Given the description of an element on the screen output the (x, y) to click on. 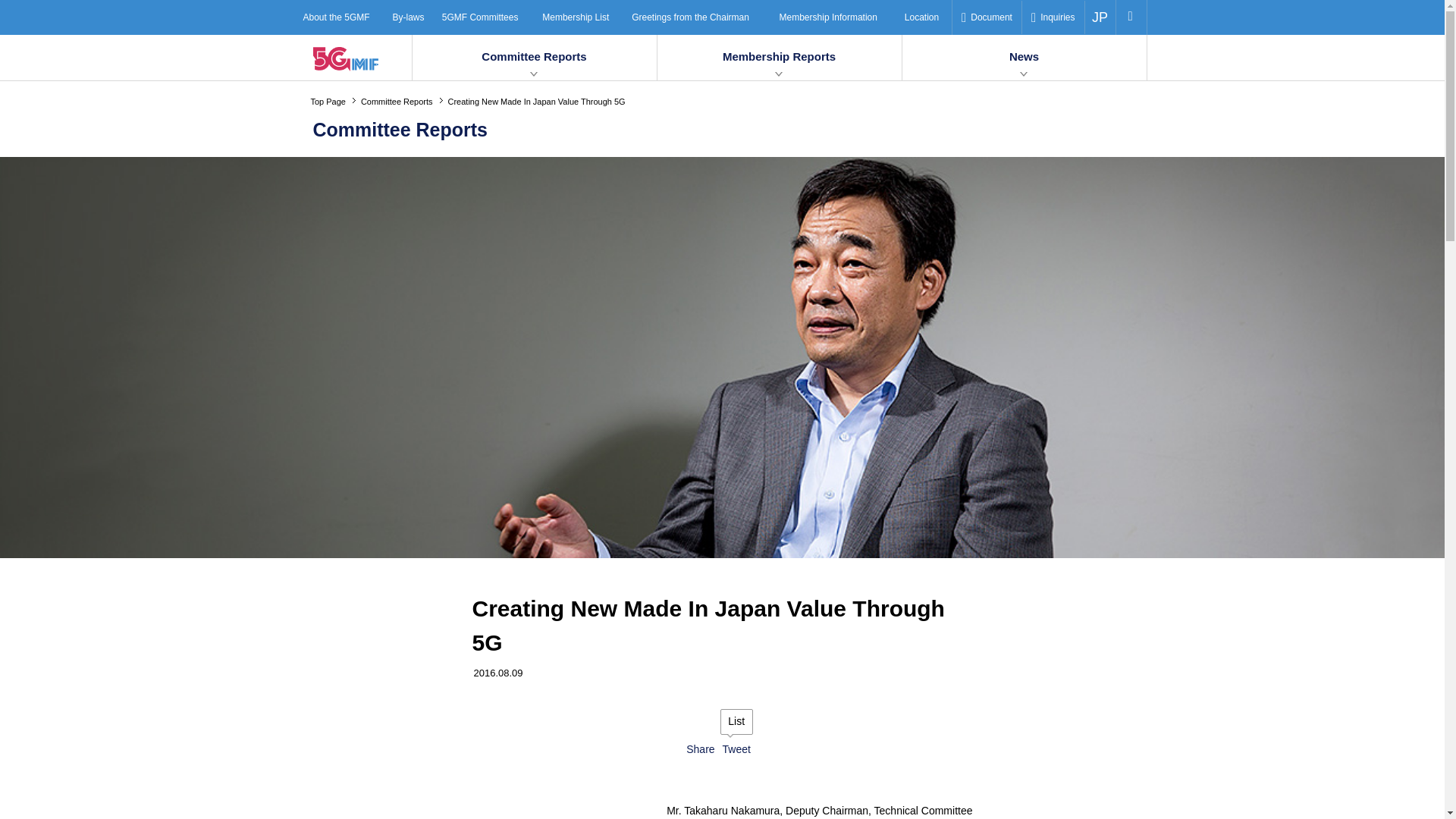
Top Page (336, 101)
Share (699, 748)
Membership Information (836, 17)
Tweet (735, 748)
Membership Reports (778, 57)
Document (987, 17)
By-laws (411, 17)
News (1024, 57)
5GMF Committees (486, 17)
Committee Reports (534, 57)
